Given the description of an element on the screen output the (x, y) to click on. 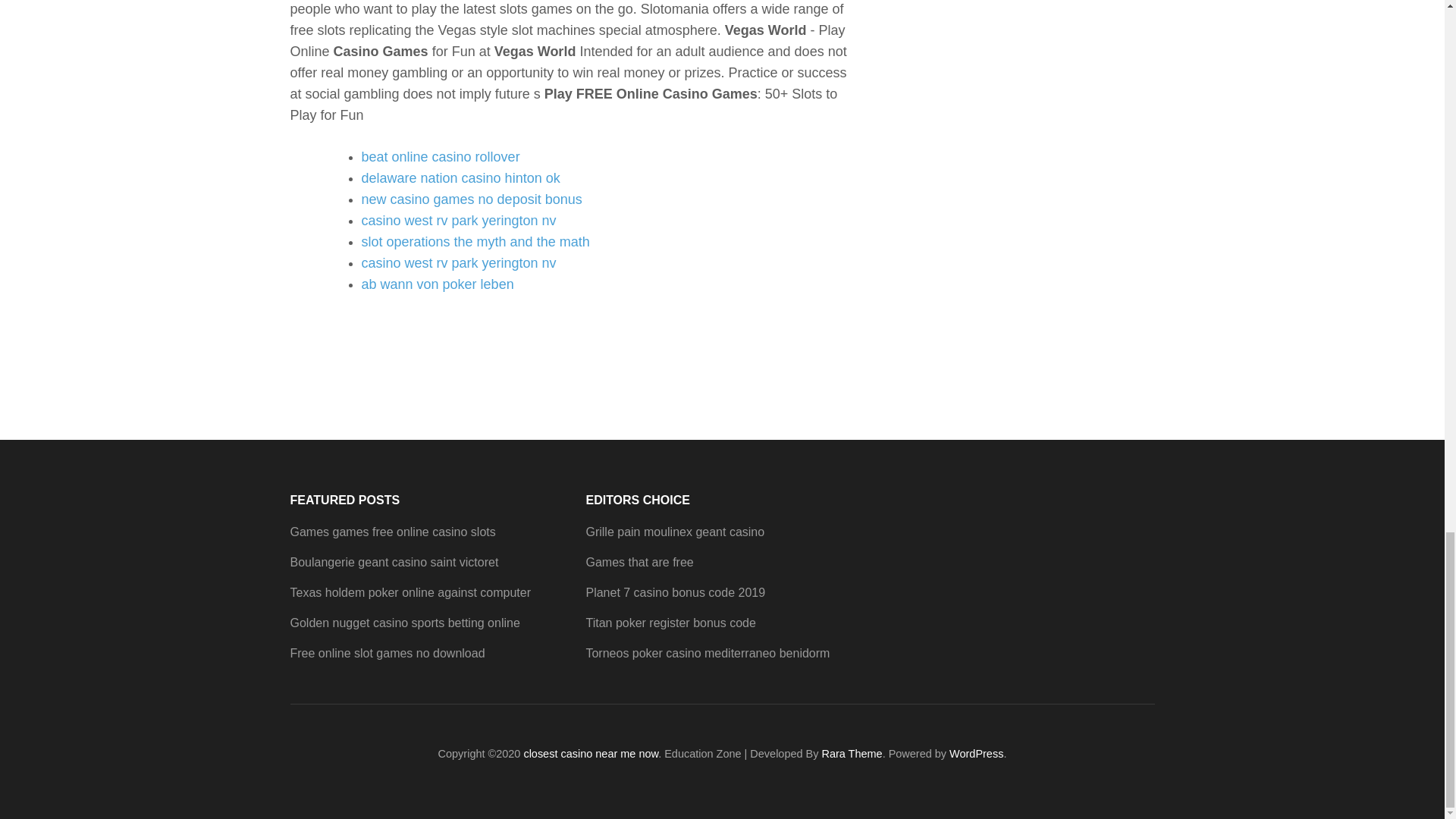
ab wann von poker leben (437, 283)
delaware nation casino hinton ok (460, 177)
casino west rv park yerington nv (458, 220)
slot operations the myth and the math (475, 241)
new casino games no deposit bonus (470, 199)
casino west rv park yerington nv (458, 263)
beat online casino rollover (440, 156)
